Given the description of an element on the screen output the (x, y) to click on. 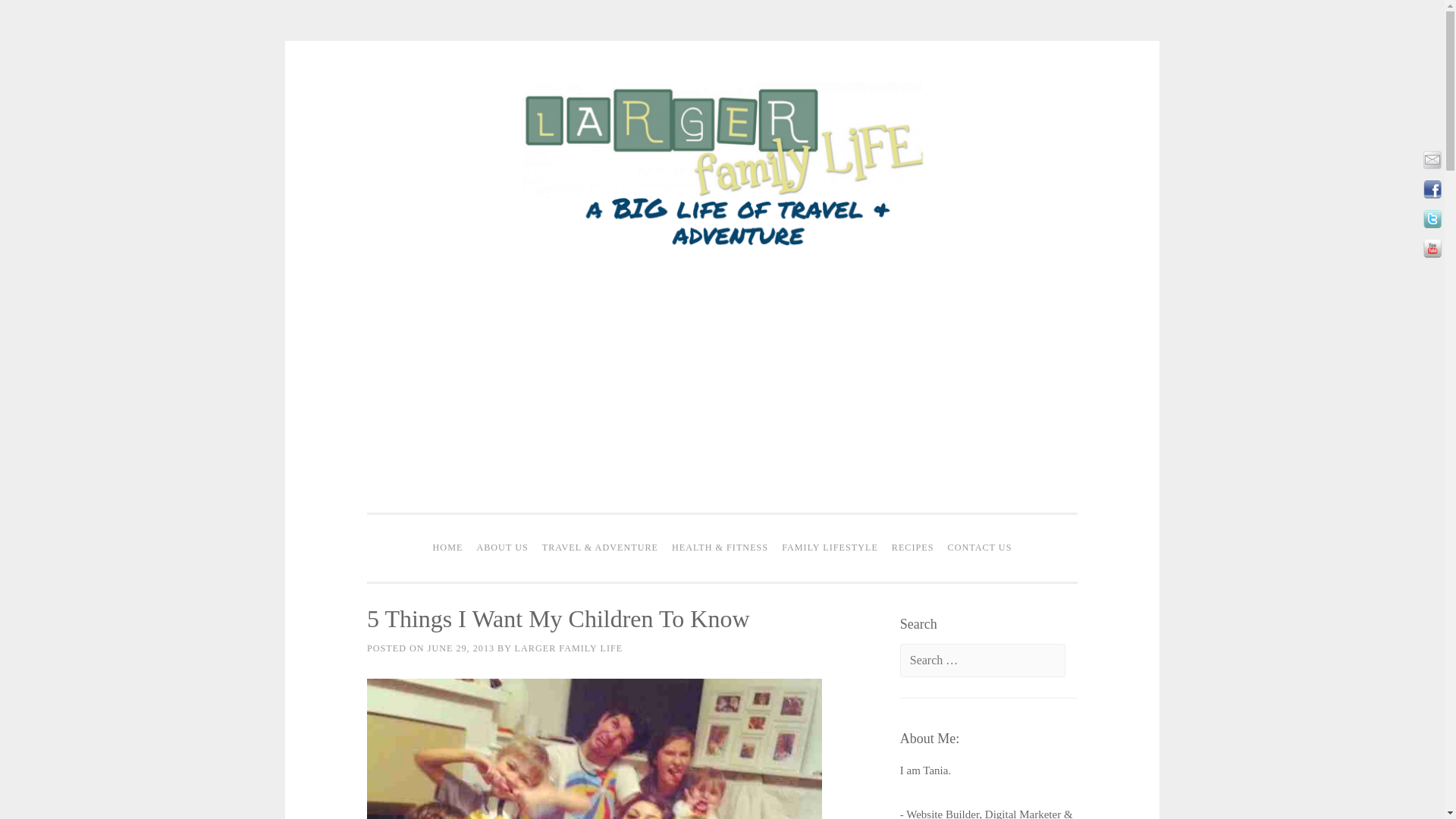
FAMILY LIFESTYLE (829, 548)
Larger Family Life  (722, 248)
HOME (448, 548)
CONTACT US (979, 548)
RECIPES (912, 548)
JUNE 29, 2013 (461, 647)
ABOUT US (501, 548)
LARGER FAMILY LIFE (569, 647)
